Given the description of an element on the screen output the (x, y) to click on. 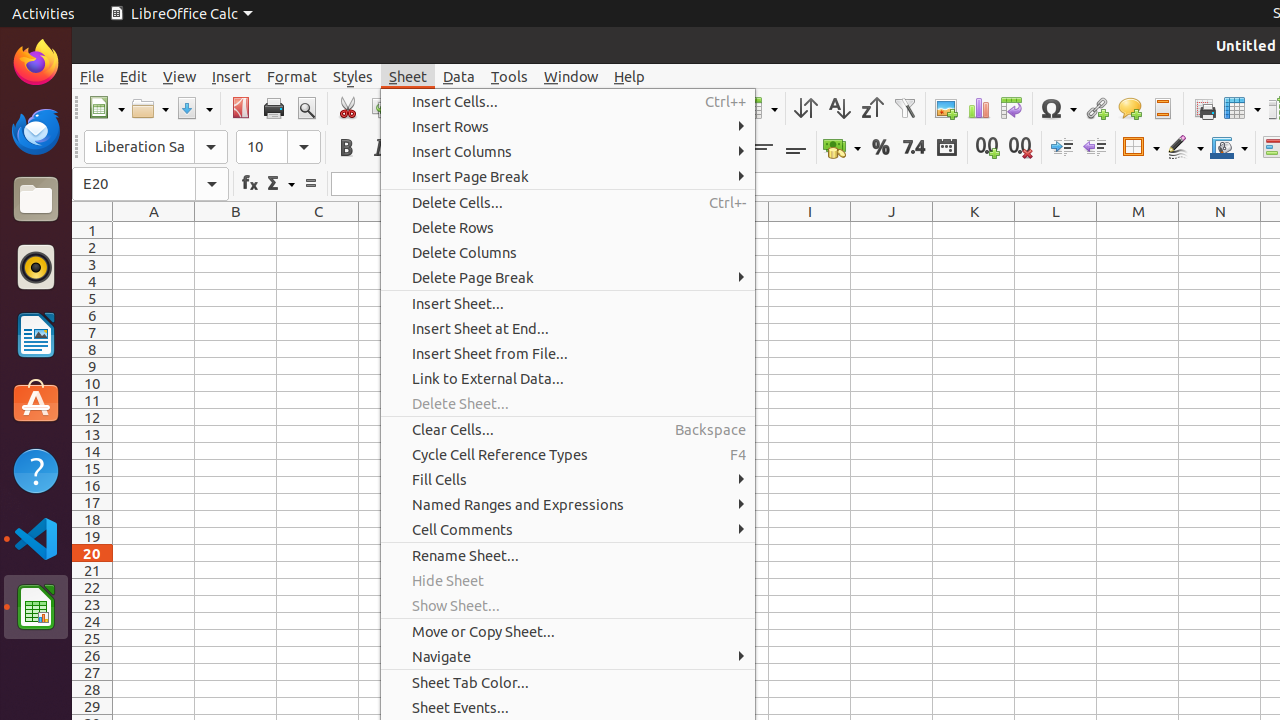
Files Element type: push-button (36, 199)
Show Sheet... Element type: menu-item (568, 605)
PDF Element type: push-button (240, 108)
Delete Decimal Place Element type: push-button (1020, 147)
Insert Sheet at End... Element type: menu-item (568, 328)
